Given the description of an element on the screen output the (x, y) to click on. 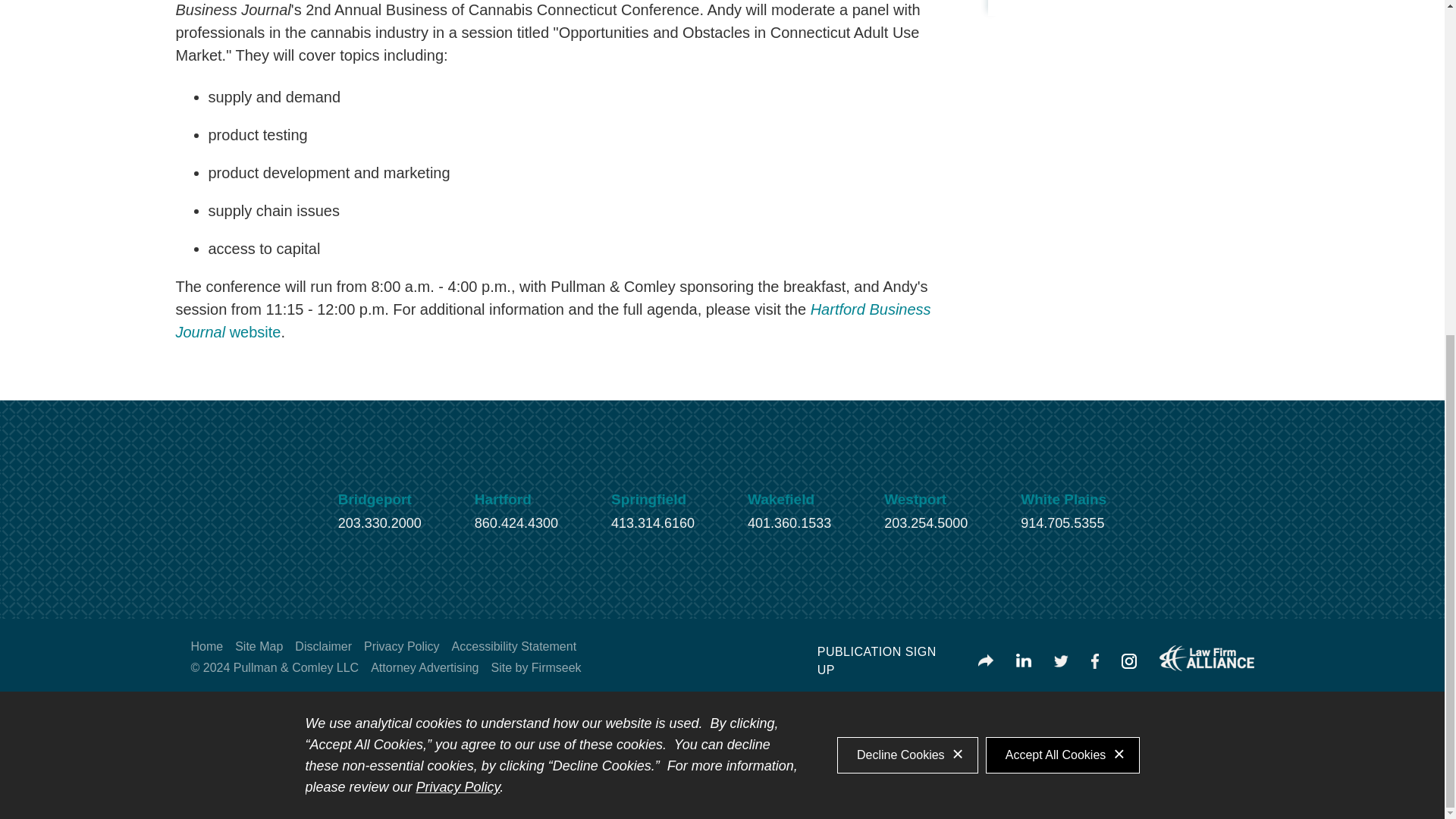
Share (985, 661)
